Given the description of an element on the screen output the (x, y) to click on. 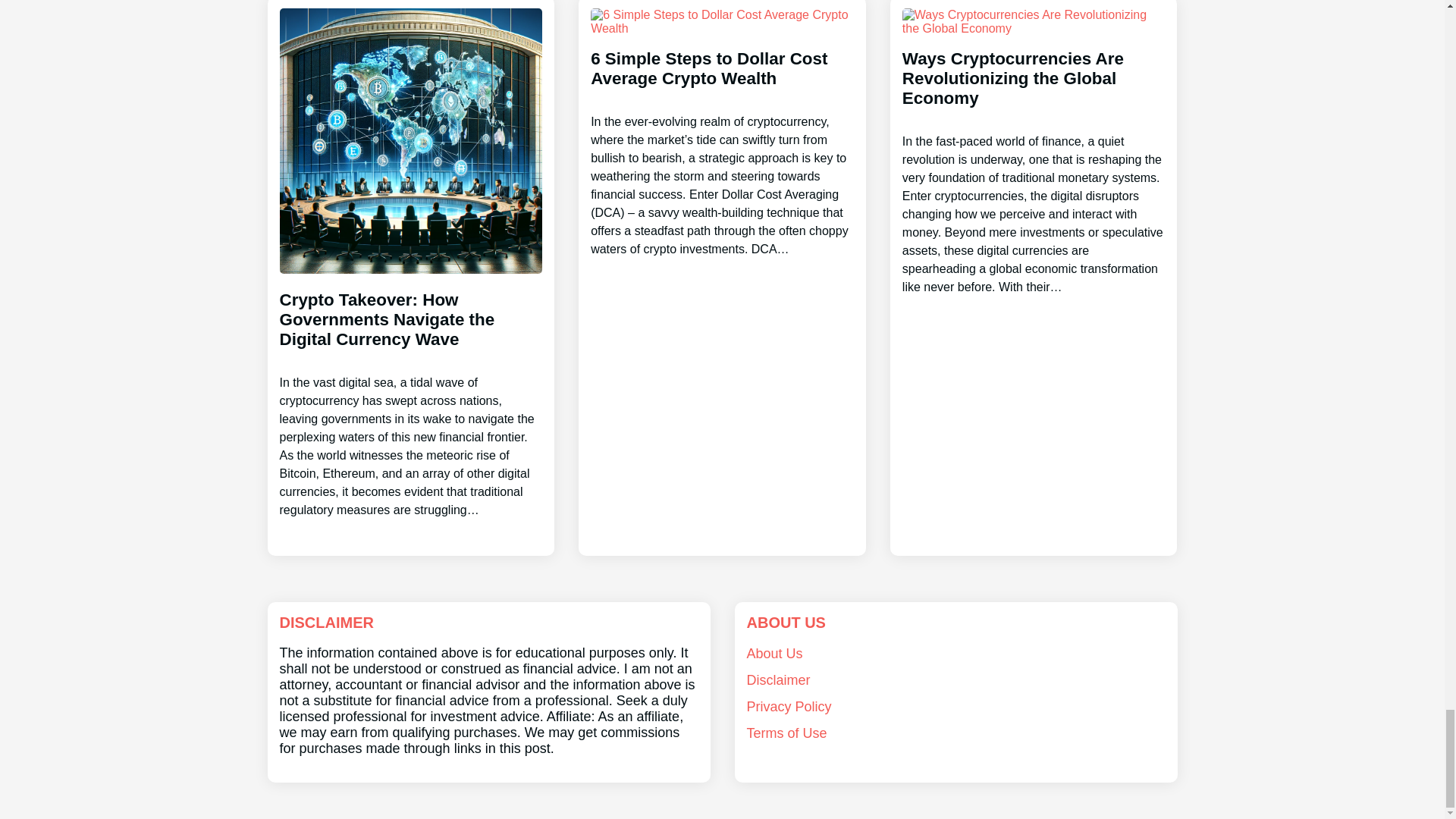
Ways Cryptocurrencies Are Revolutionizing the Global Economy (1034, 159)
6 Simple Steps to Dollar Cost Average Crypto Wealth (722, 140)
About Us (773, 653)
Terms of Use (786, 733)
Disclaimer (777, 679)
Privacy Policy (788, 706)
